Given the description of an element on the screen output the (x, y) to click on. 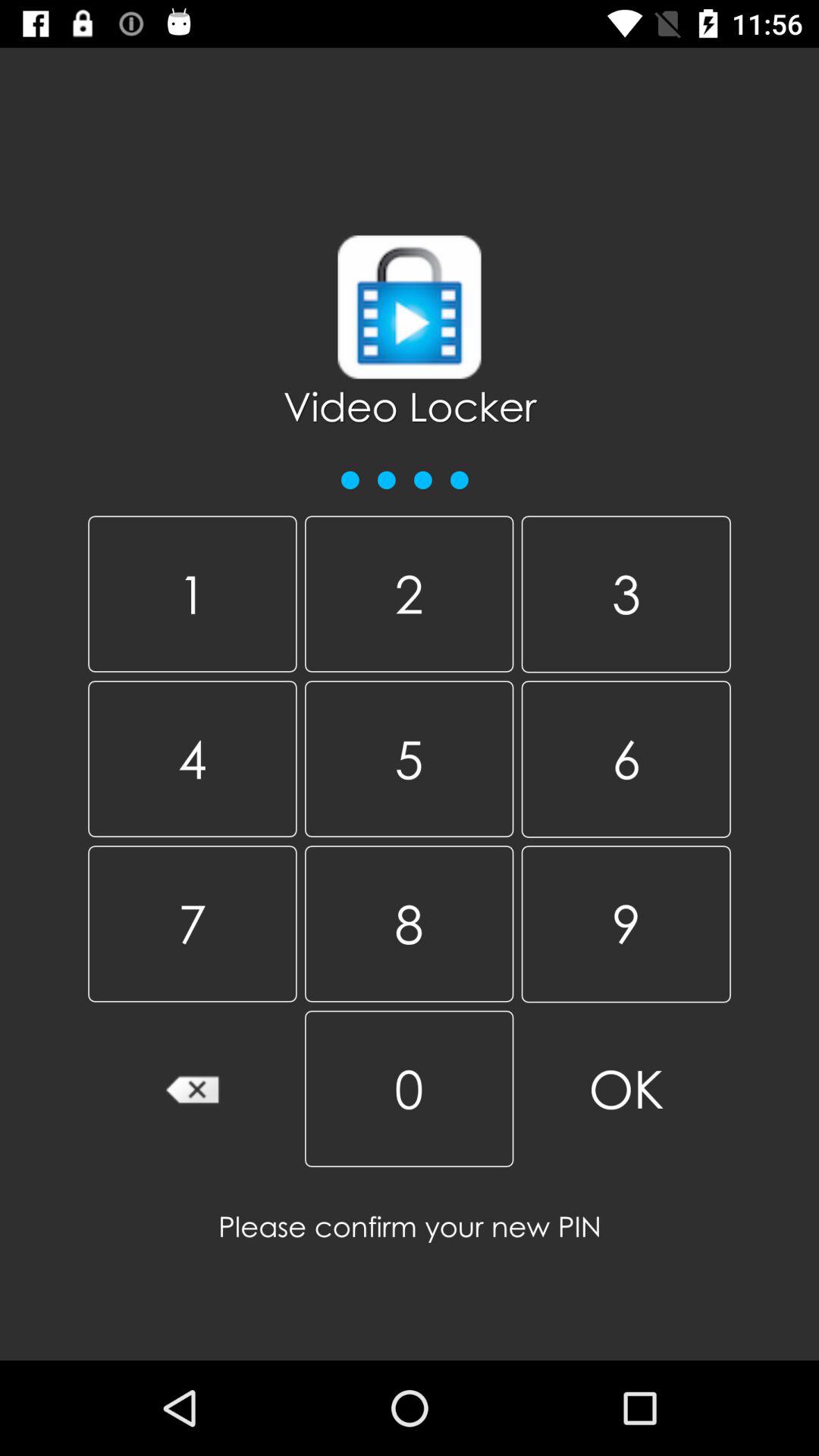
jump to 1 (192, 593)
